Given the description of an element on the screen output the (x, y) to click on. 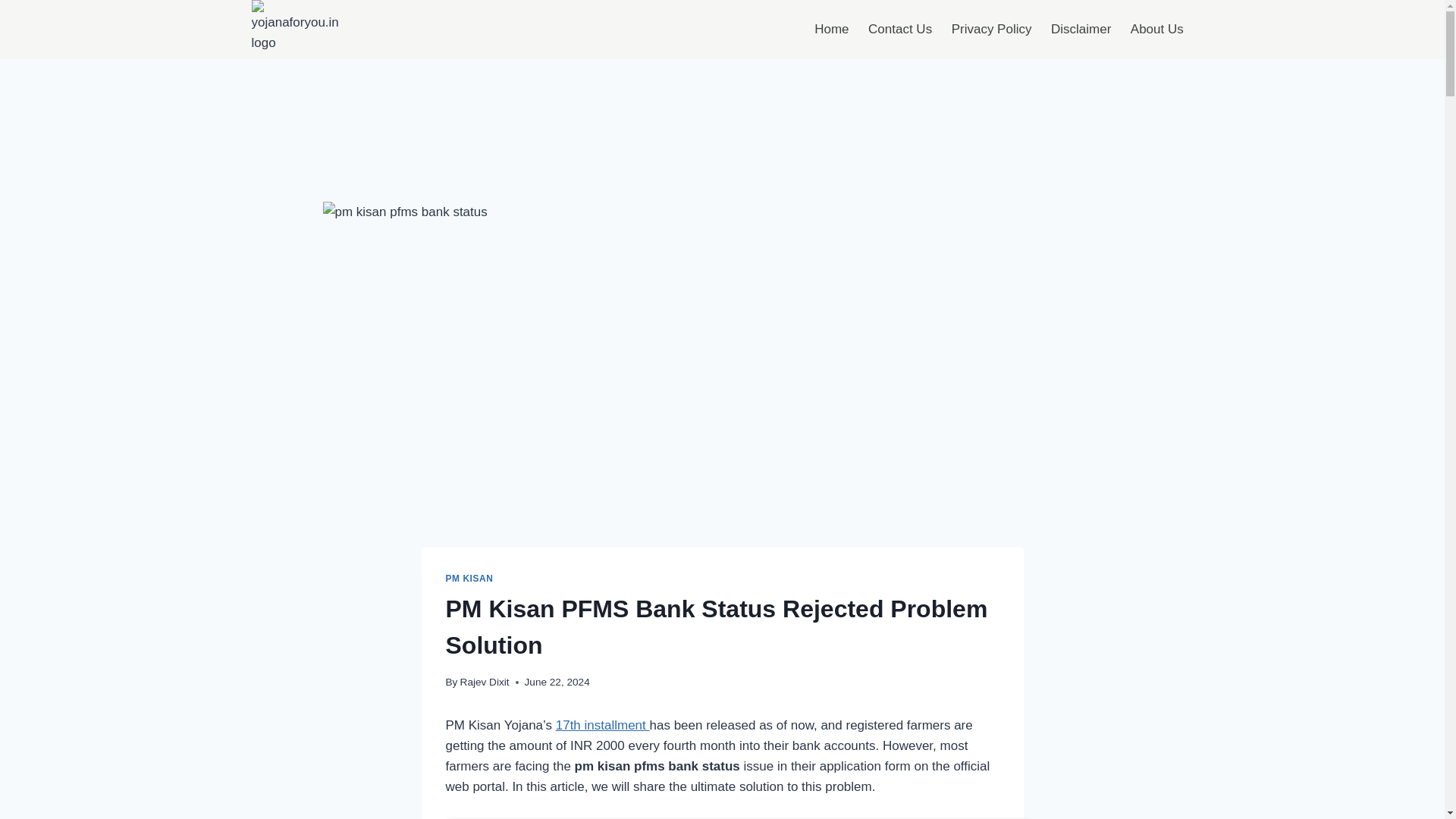
Privacy Policy (991, 29)
17th installment (602, 725)
Rajev Dixit (484, 681)
About Us (1156, 29)
Disclaimer (1081, 29)
Home (832, 29)
Contact Us (900, 29)
PM KISAN (469, 578)
